Given the description of an element on the screen output the (x, y) to click on. 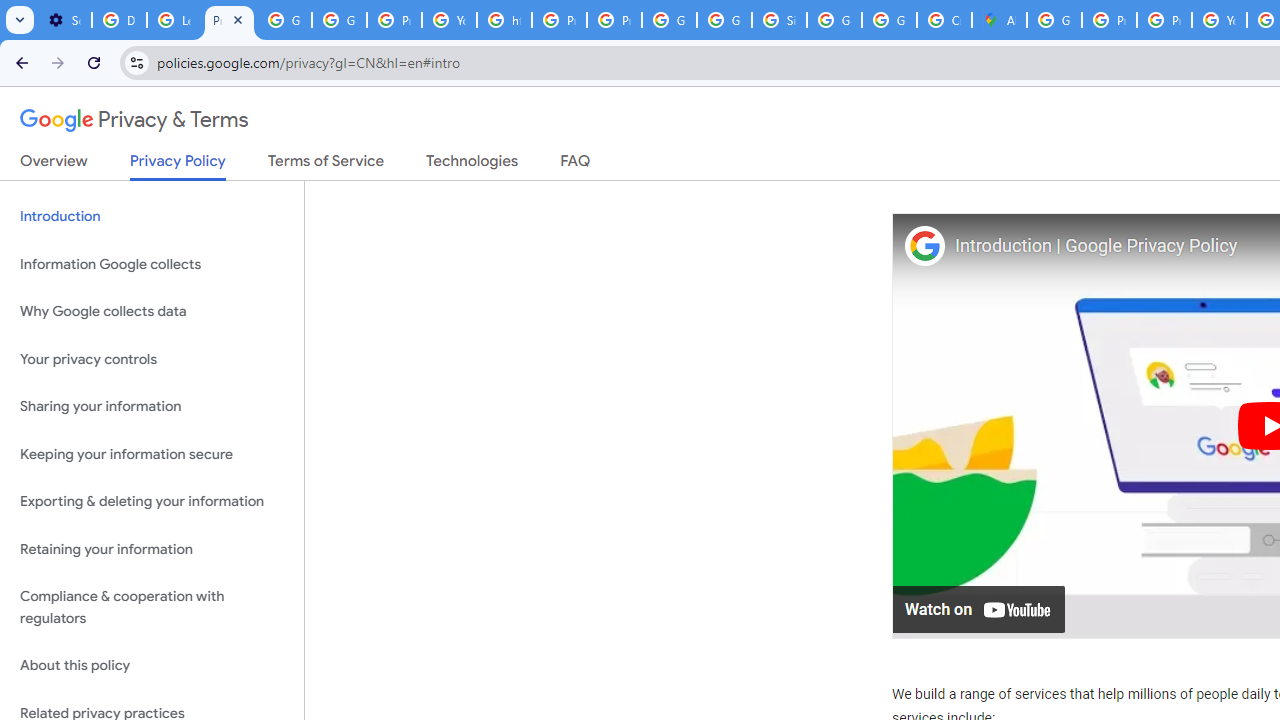
Reload (93, 62)
Close (238, 19)
